Given the description of an element on the screen output the (x, y) to click on. 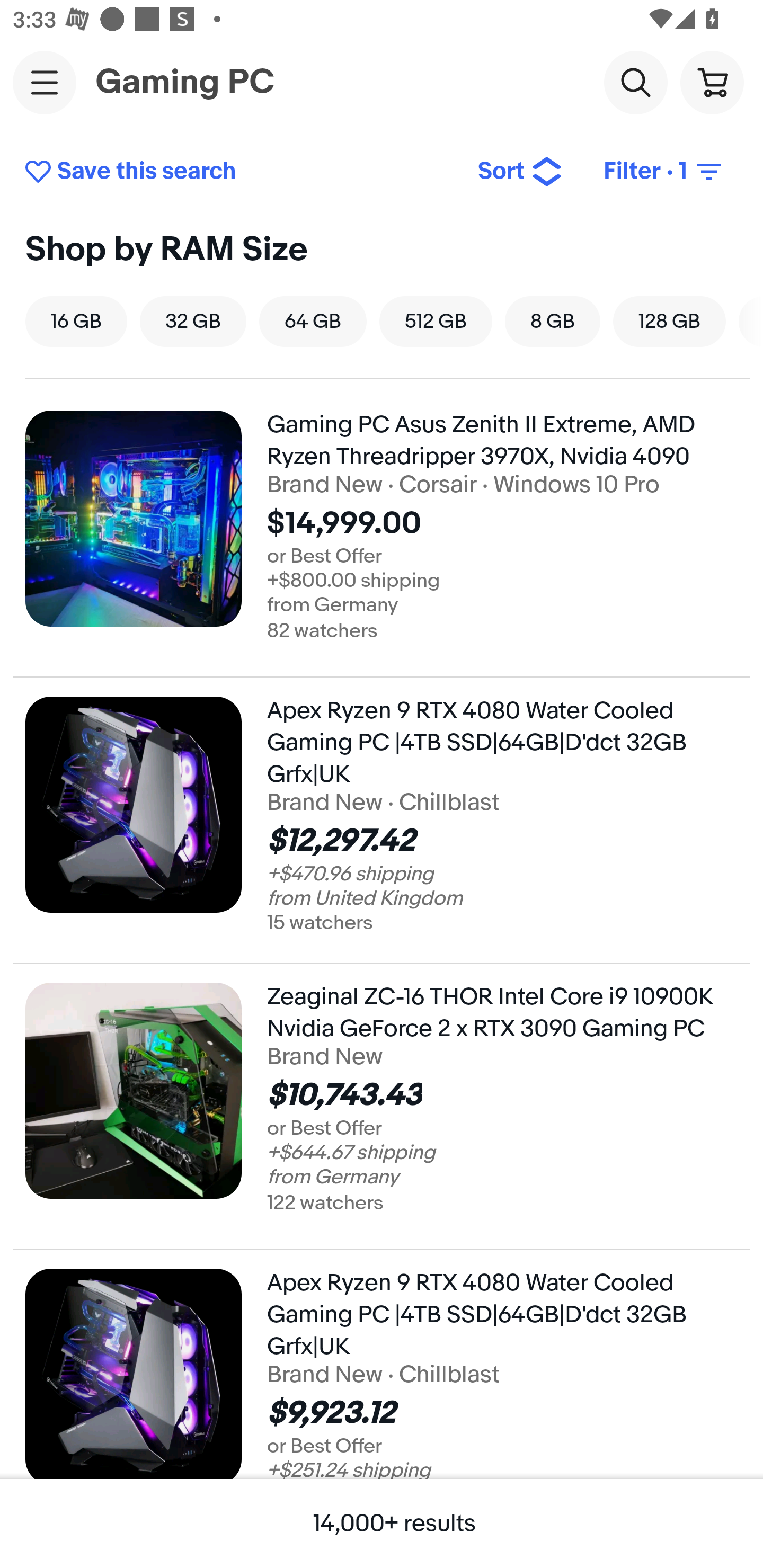
Main navigation, open (44, 82)
Search (635, 81)
Cart button shopping cart (711, 81)
Save this search (237, 171)
Sort (520, 171)
Filter • 1 Filter (1 applied) (663, 171)
16 GB 16 GB, RAM Size (76, 321)
32 GB 32 GB, RAM Size (192, 321)
64 GB 64 GB, RAM Size (313, 321)
512 GB 512 GB, RAM Size (435, 321)
8 GB 8 GB, RAM Size (552, 321)
128 GB 128 GB, RAM Size (668, 321)
